Given the description of an element on the screen output the (x, y) to click on. 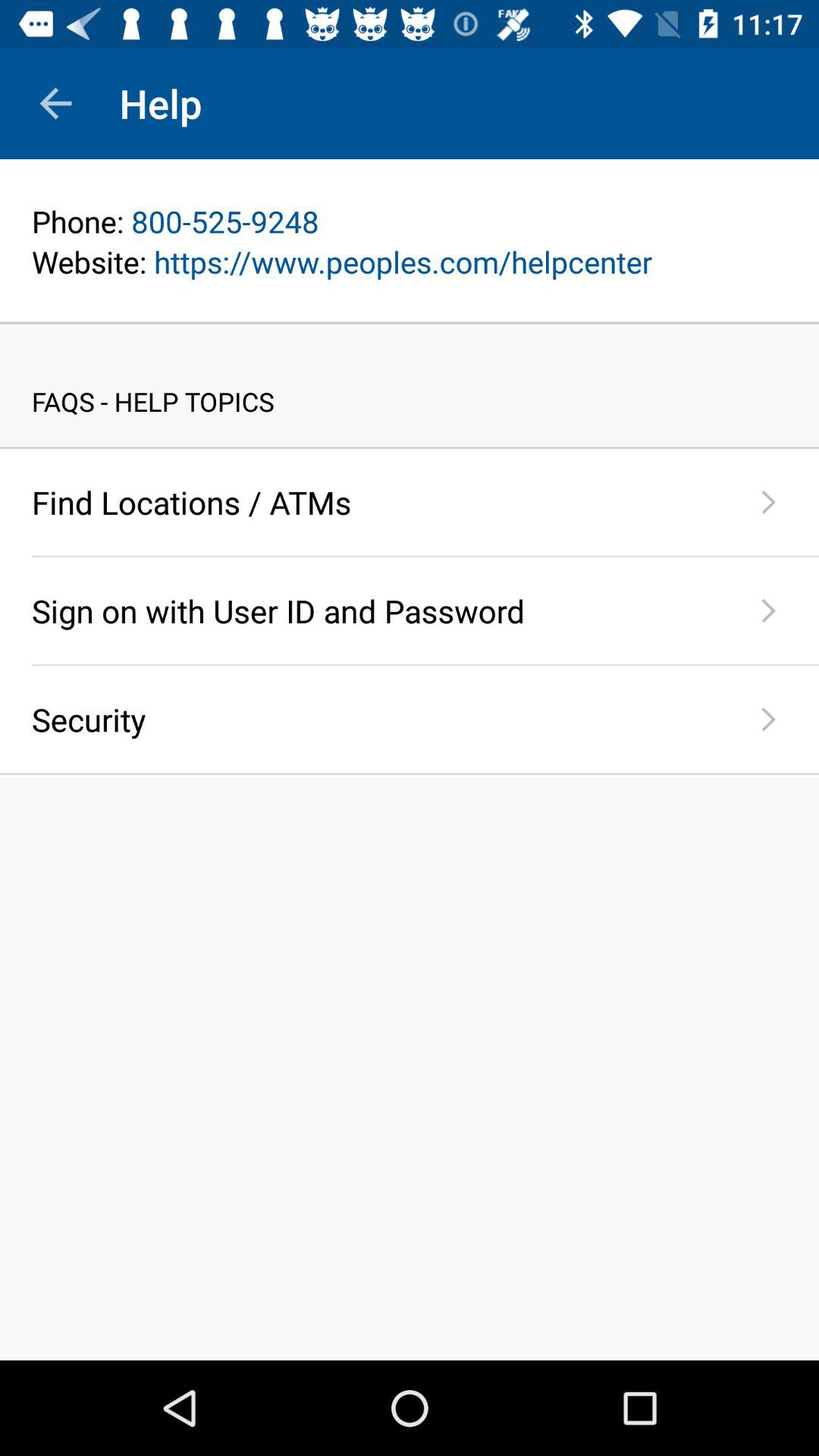
tap item below website https www item (409, 322)
